Given the description of an element on the screen output the (x, y) to click on. 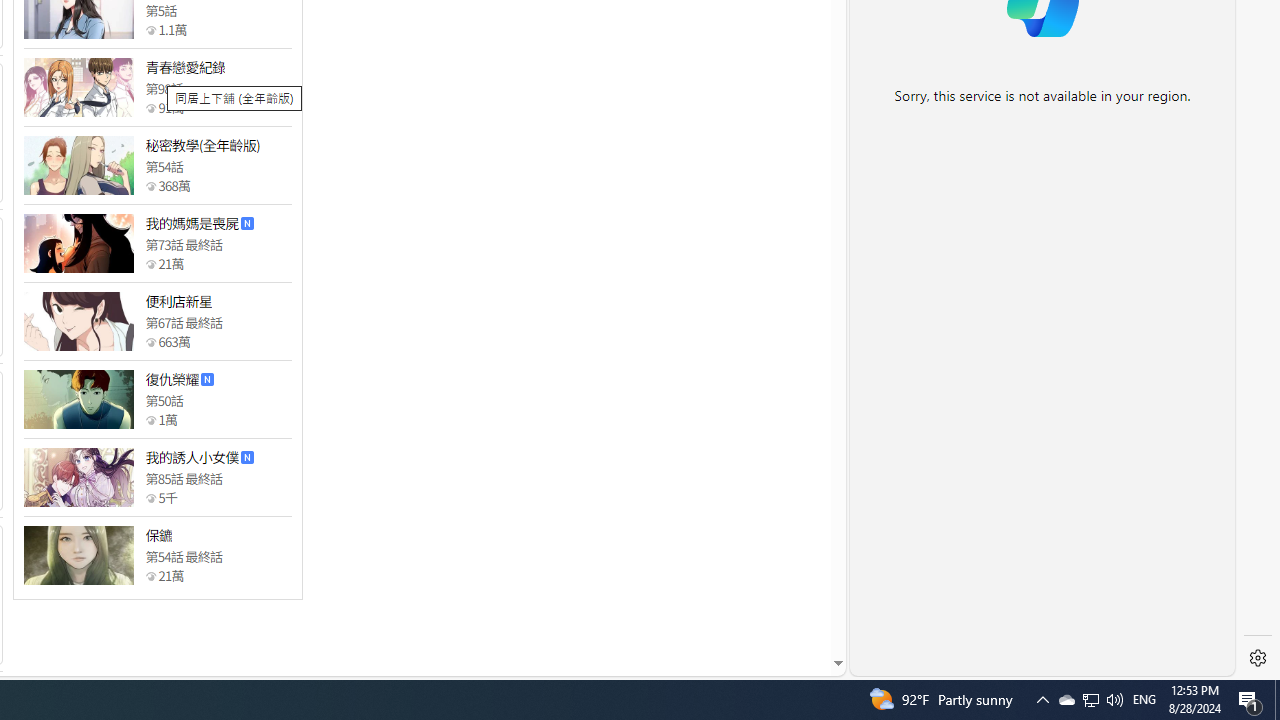
Class: epicon_starpoint (150, 575)
Class: thumb_img (78, 555)
